Given the description of an element on the screen output the (x, y) to click on. 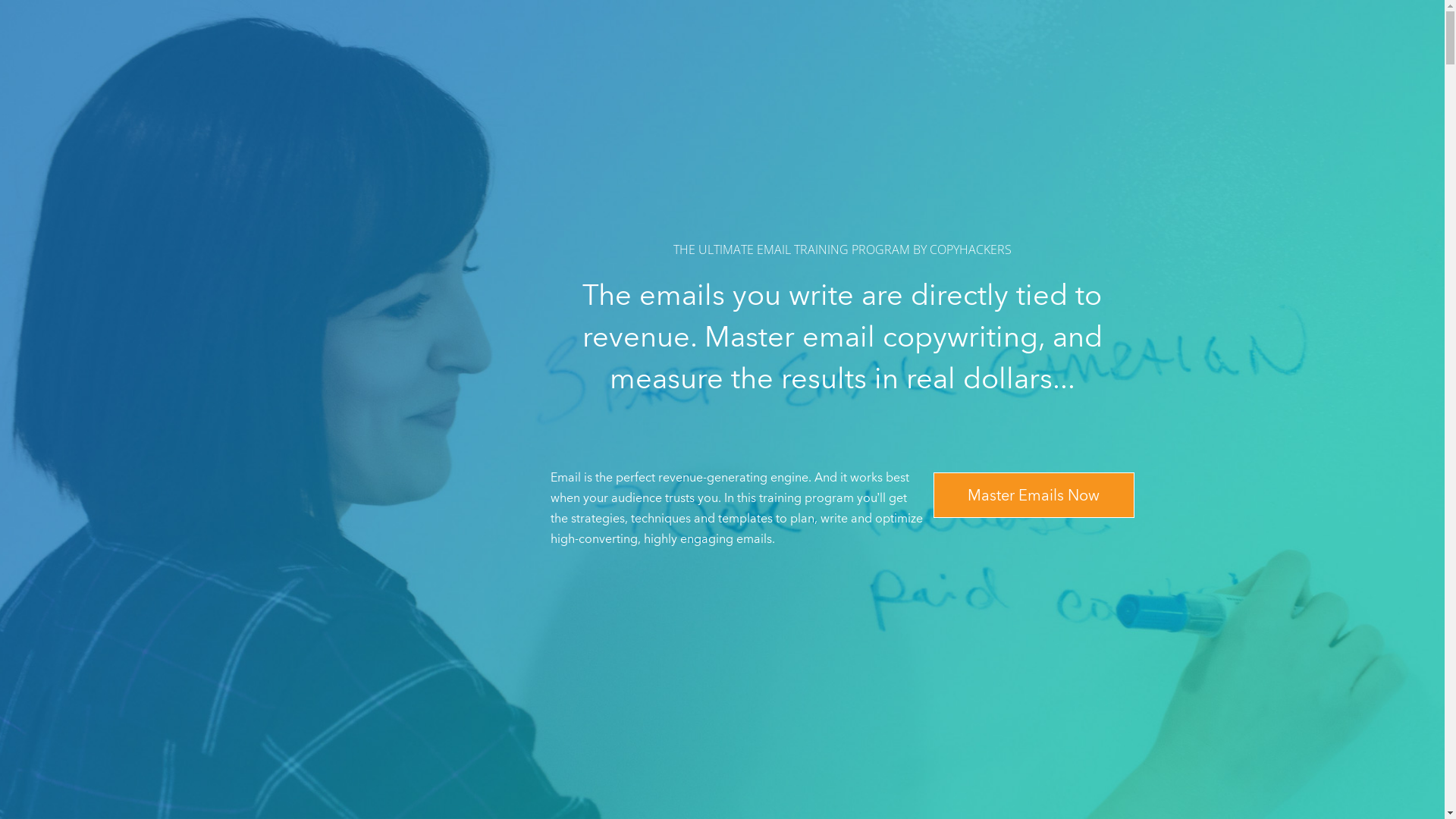
Master Emails Now Element type: text (1032, 494)
